Given the description of an element on the screen output the (x, y) to click on. 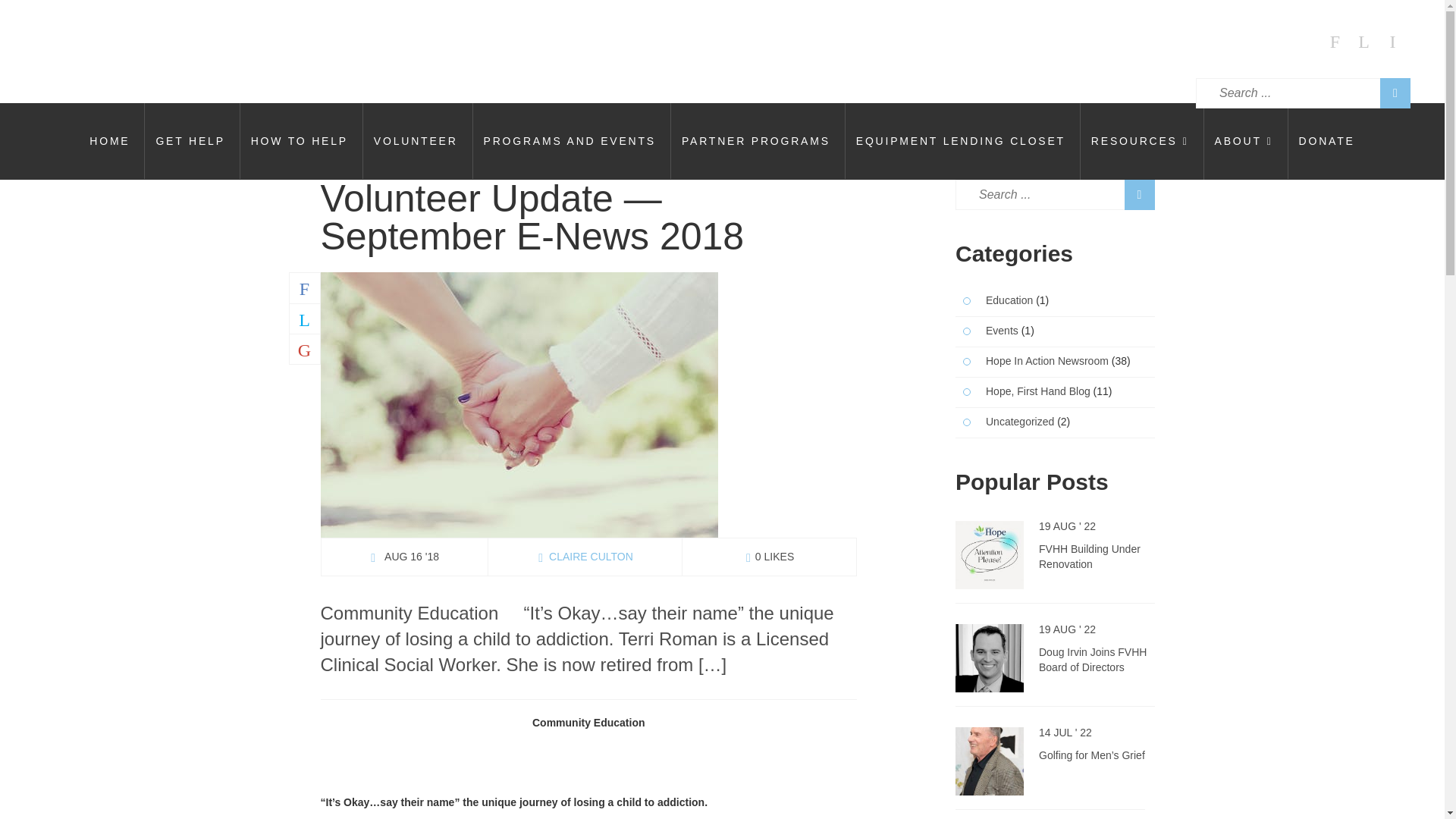
Search (1395, 92)
ABOUT (1244, 141)
Search (1395, 92)
Search (1139, 194)
PARTNER PROGRAMS (755, 141)
Events (986, 331)
GET HELP (189, 141)
PROGRAMS AND EVENTS (568, 141)
MISSION AND HISTORY (1267, 207)
EQUIPMENT LENDING CLOSET (960, 141)
HOPE IN ACTION NEWSLETTER (1143, 207)
CLAIRE CULTON (585, 556)
RESOURCES (1139, 141)
HOW TO HELP (299, 141)
Hope In Action Newsroom (1031, 361)
